Given the description of an element on the screen output the (x, y) to click on. 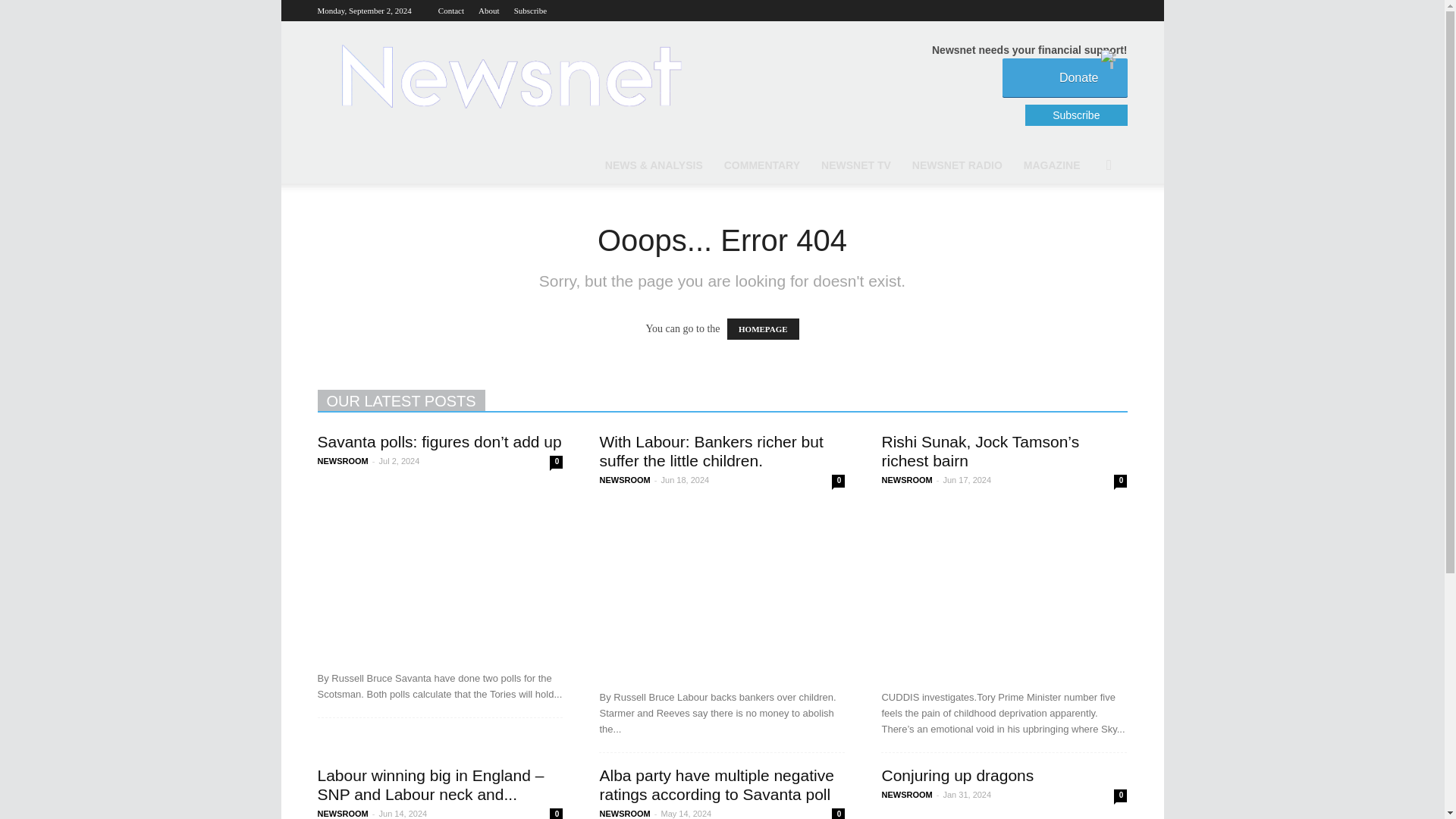
With Labour:  Bankers richer but suffer the little children. (721, 589)
COMMENTARY (761, 165)
MAGAZINE (1051, 165)
HOMEPAGE (762, 328)
0 (837, 481)
Search (1086, 225)
Donate (1064, 77)
NEWSNET TV (855, 165)
NEWSROOM (905, 479)
About (489, 10)
